Given the description of an element on the screen output the (x, y) to click on. 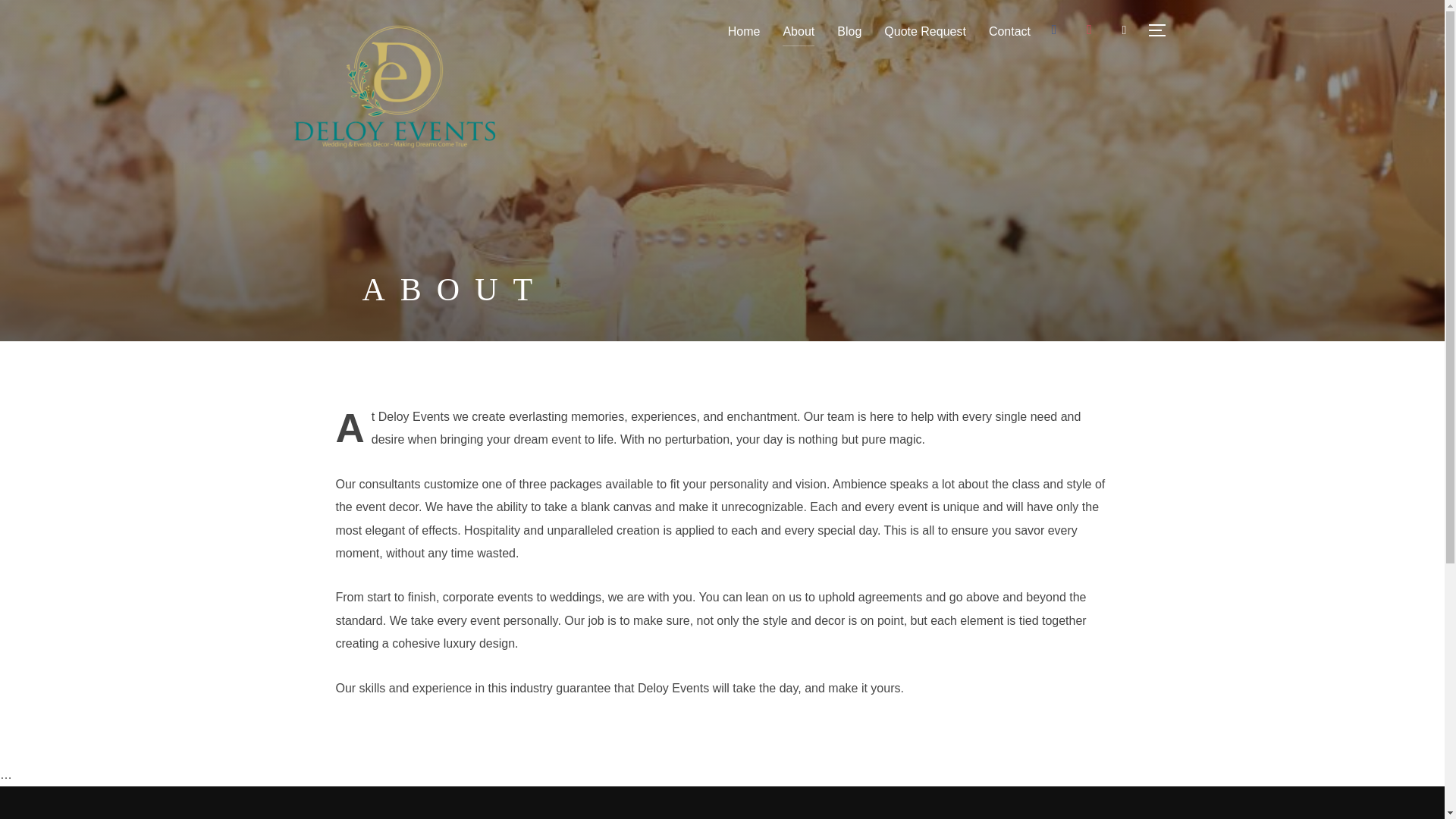
Search (15, 15)
Instagram (1089, 28)
Home (744, 31)
facebook (1054, 28)
Contact (1009, 31)
instagram (1089, 28)
About (798, 31)
Facebook (1054, 28)
Quote Request (924, 31)
